Given the description of an element on the screen output the (x, y) to click on. 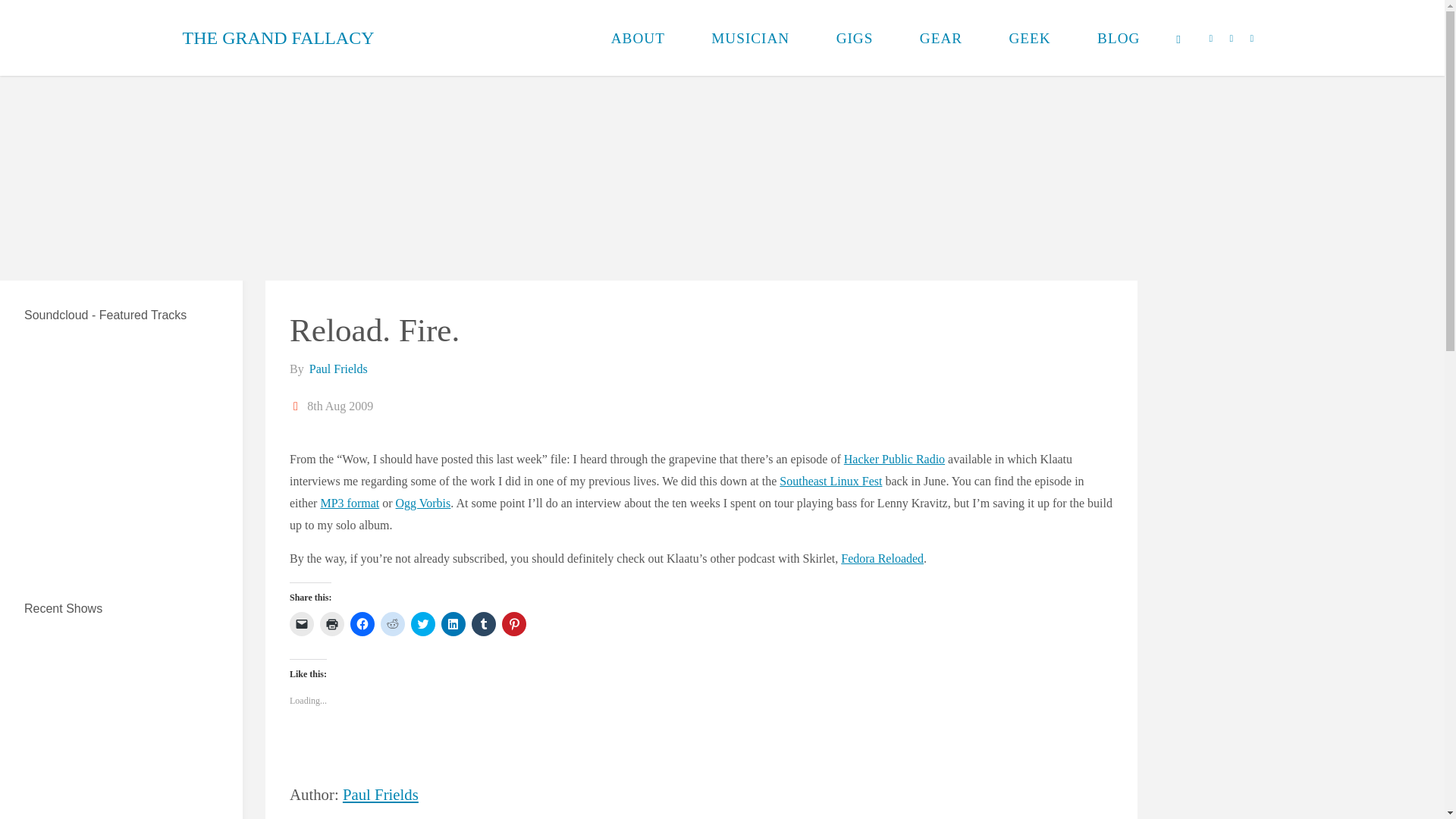
Hacker Public Radio (894, 459)
Click to print (331, 623)
THE GRAND FALLACY (278, 37)
Click to email a link to a friend (301, 623)
Paul Frields (337, 368)
Date (296, 405)
Fedora Reloaded (882, 558)
GIGS (854, 38)
ABOUT (638, 38)
Click to share on Reddit (392, 623)
